Given the description of an element on the screen output the (x, y) to click on. 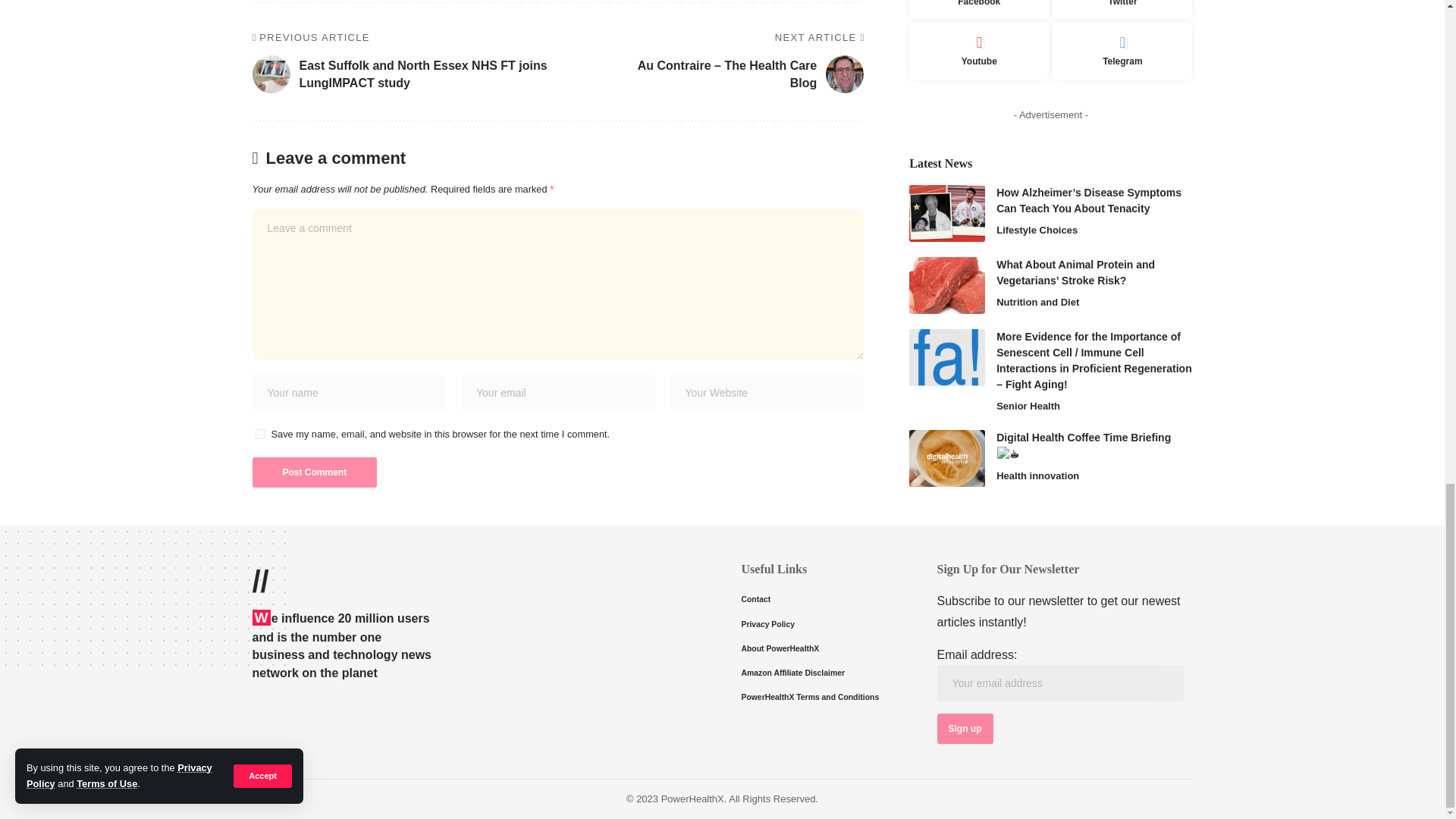
Sign up (964, 728)
Post Comment (314, 472)
yes (259, 433)
